Given the description of an element on the screen output the (x, y) to click on. 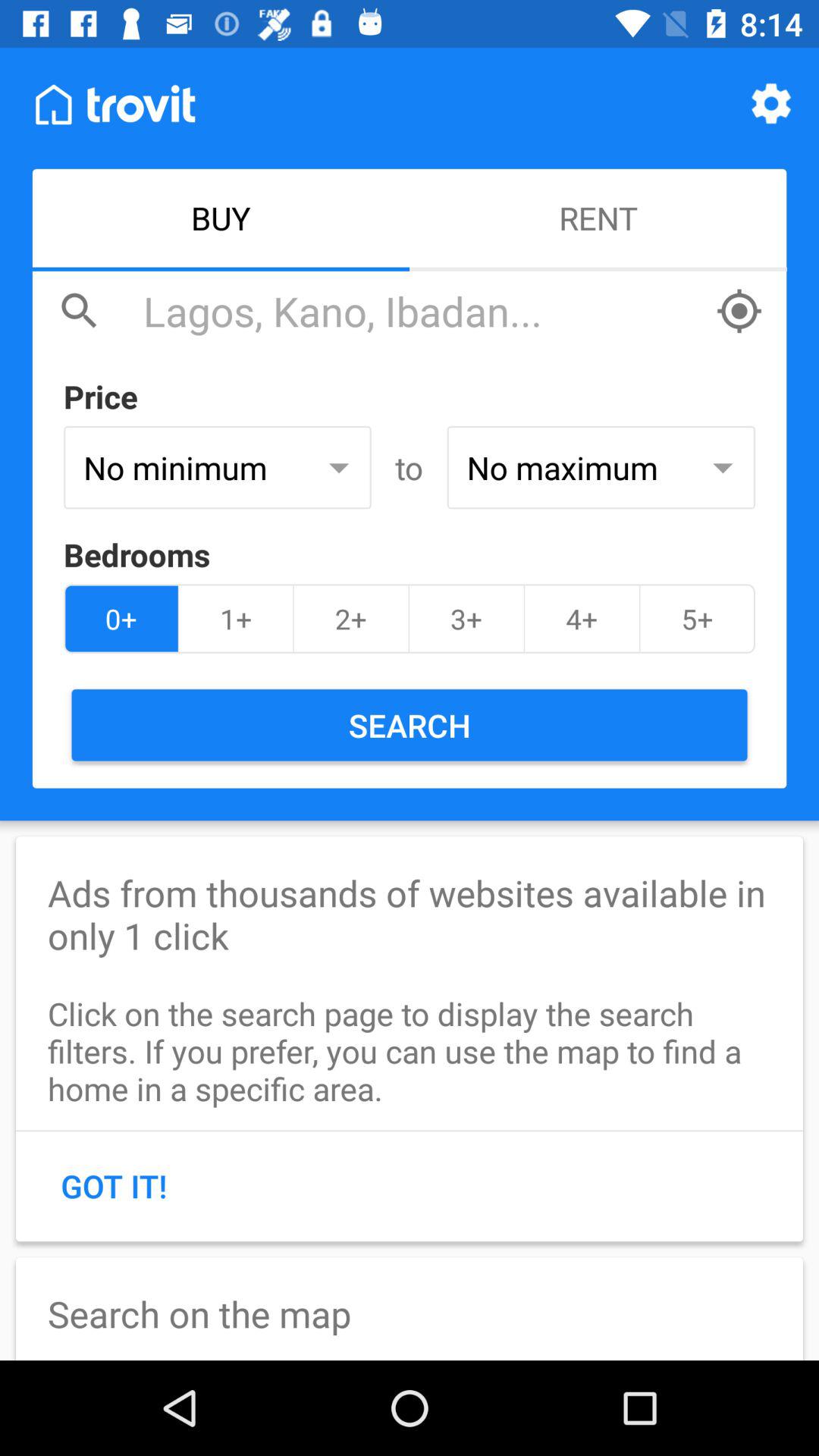
search bar (421, 310)
